Given the description of an element on the screen output the (x, y) to click on. 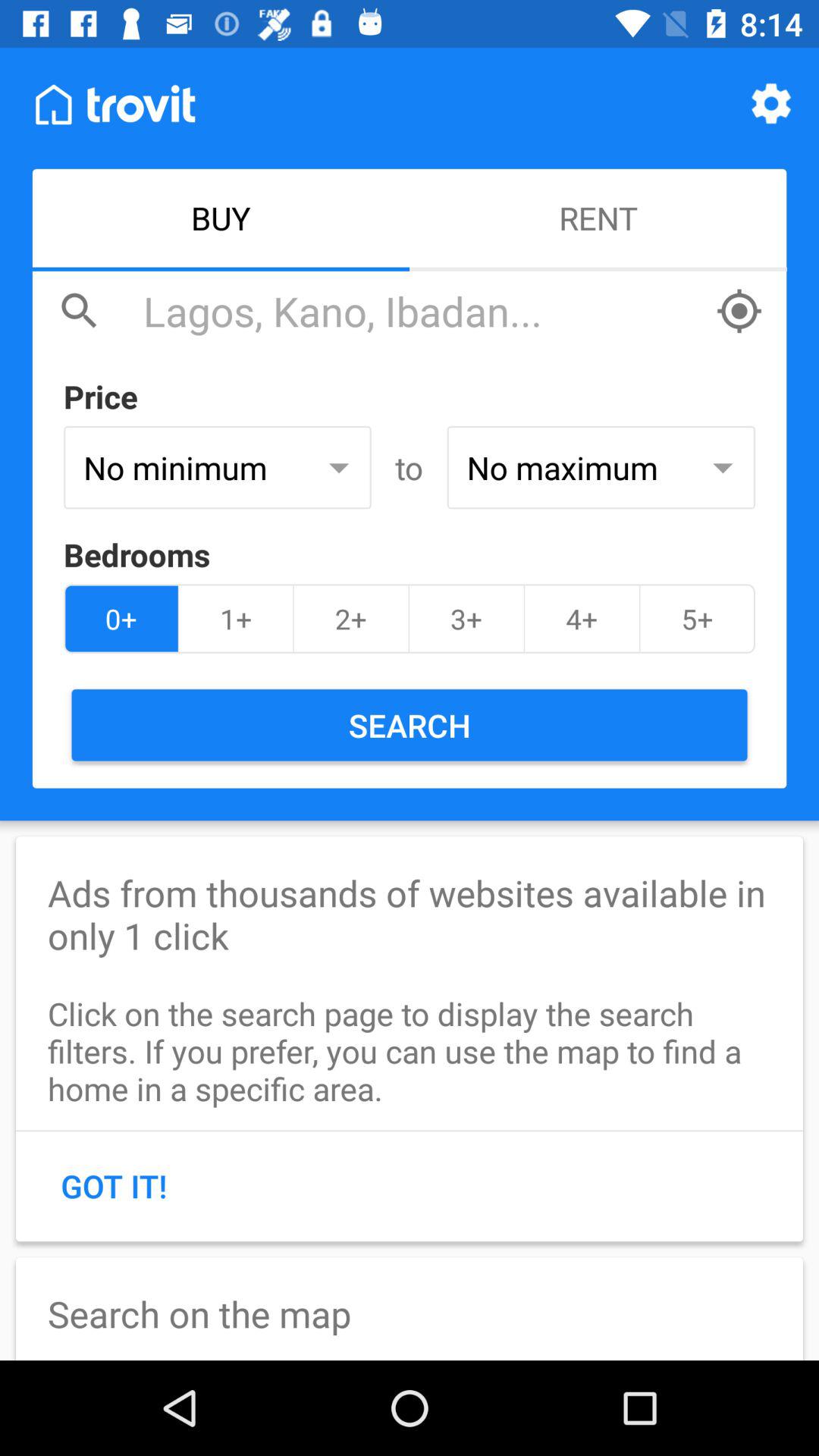
search bar (421, 310)
